Given the description of an element on the screen output the (x, y) to click on. 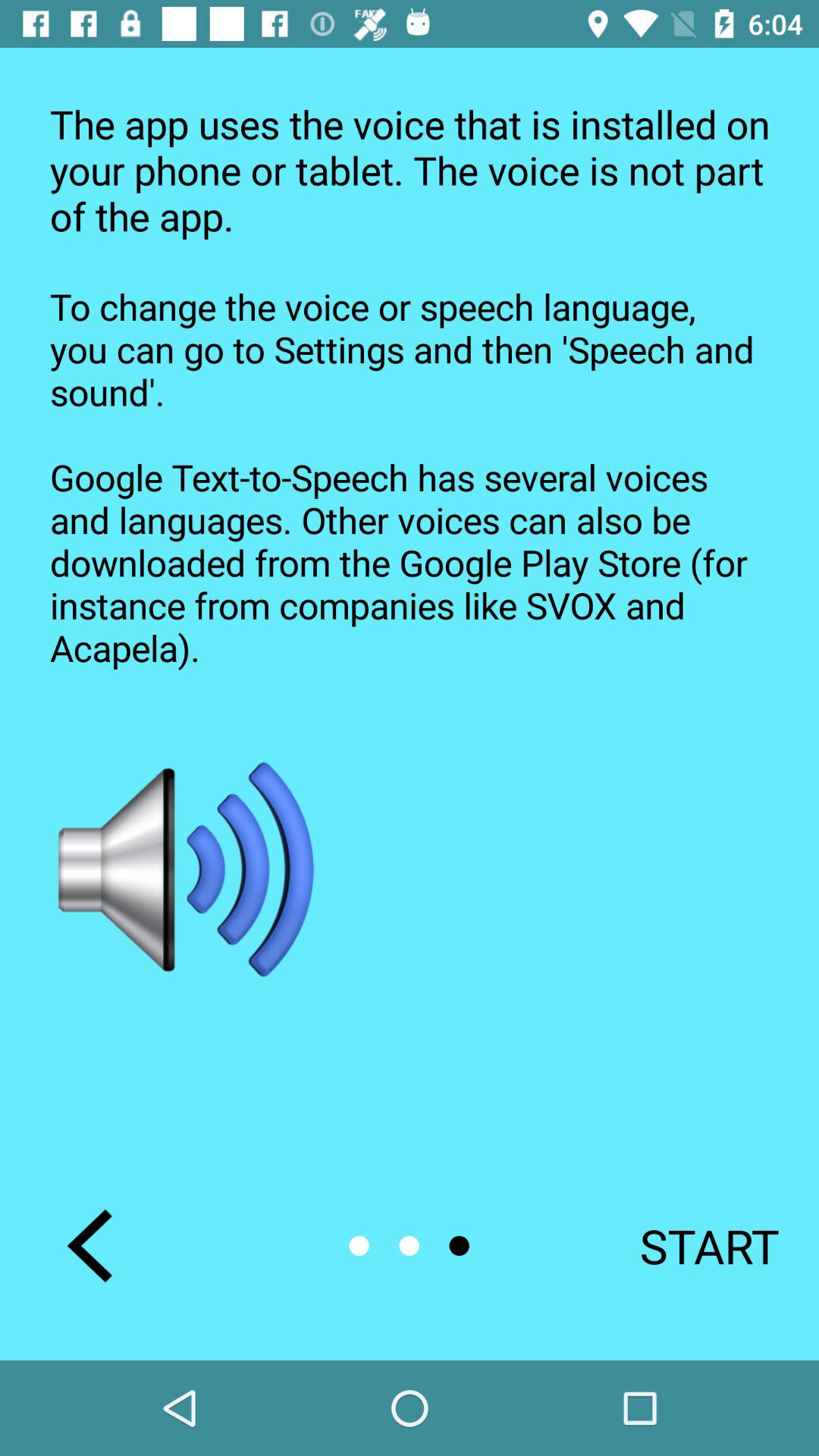
launch button at the bottom left corner (89, 1245)
